Given the description of an element on the screen output the (x, y) to click on. 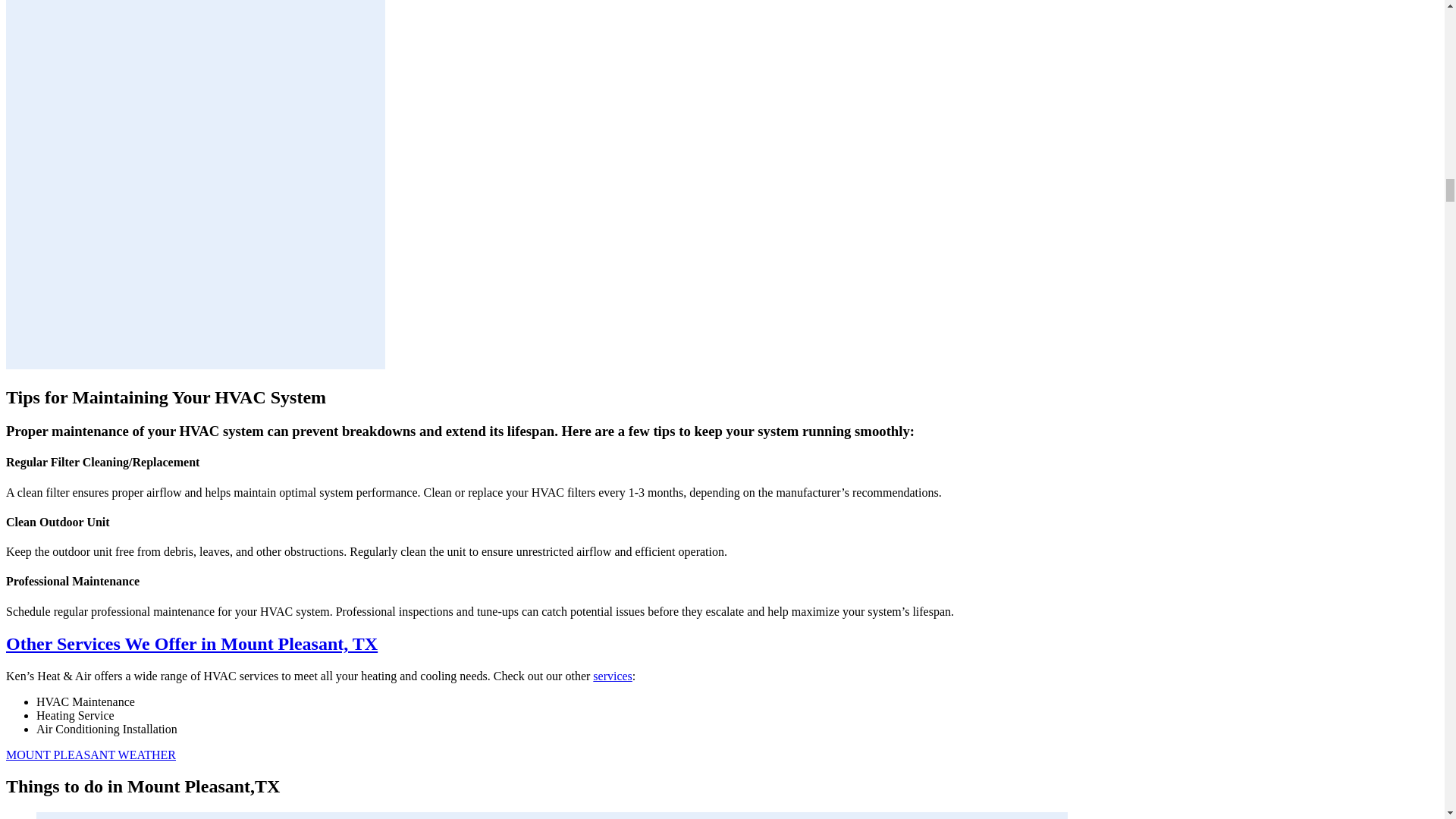
MOUNT PLEASANT WEATHER (90, 754)
Other Services We Offer in Mount Pleasant, TX (191, 643)
services (611, 675)
